Given the description of an element on the screen output the (x, y) to click on. 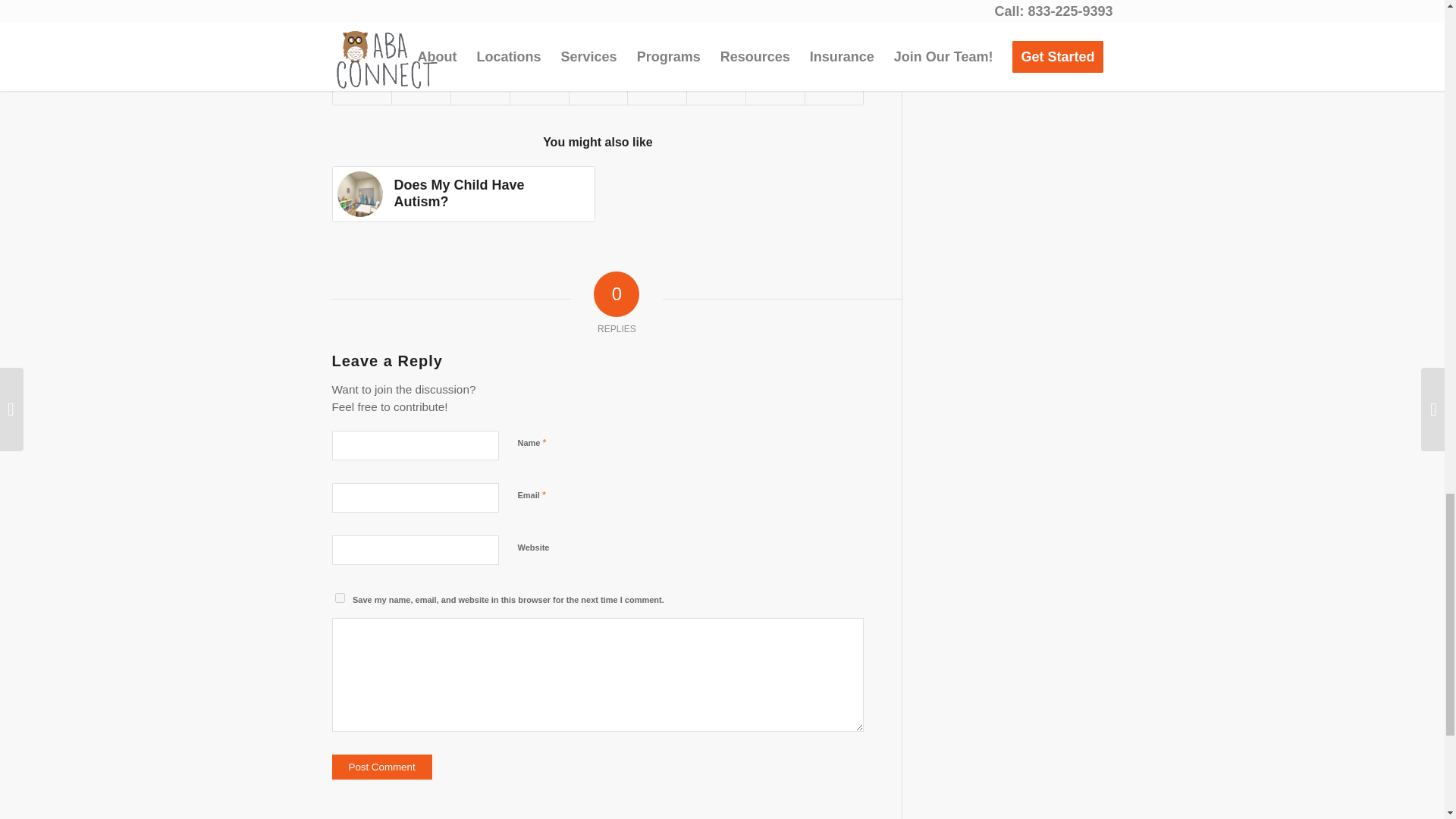
yes (339, 597)
Post Comment (381, 766)
